Given the description of an element on the screen output the (x, y) to click on. 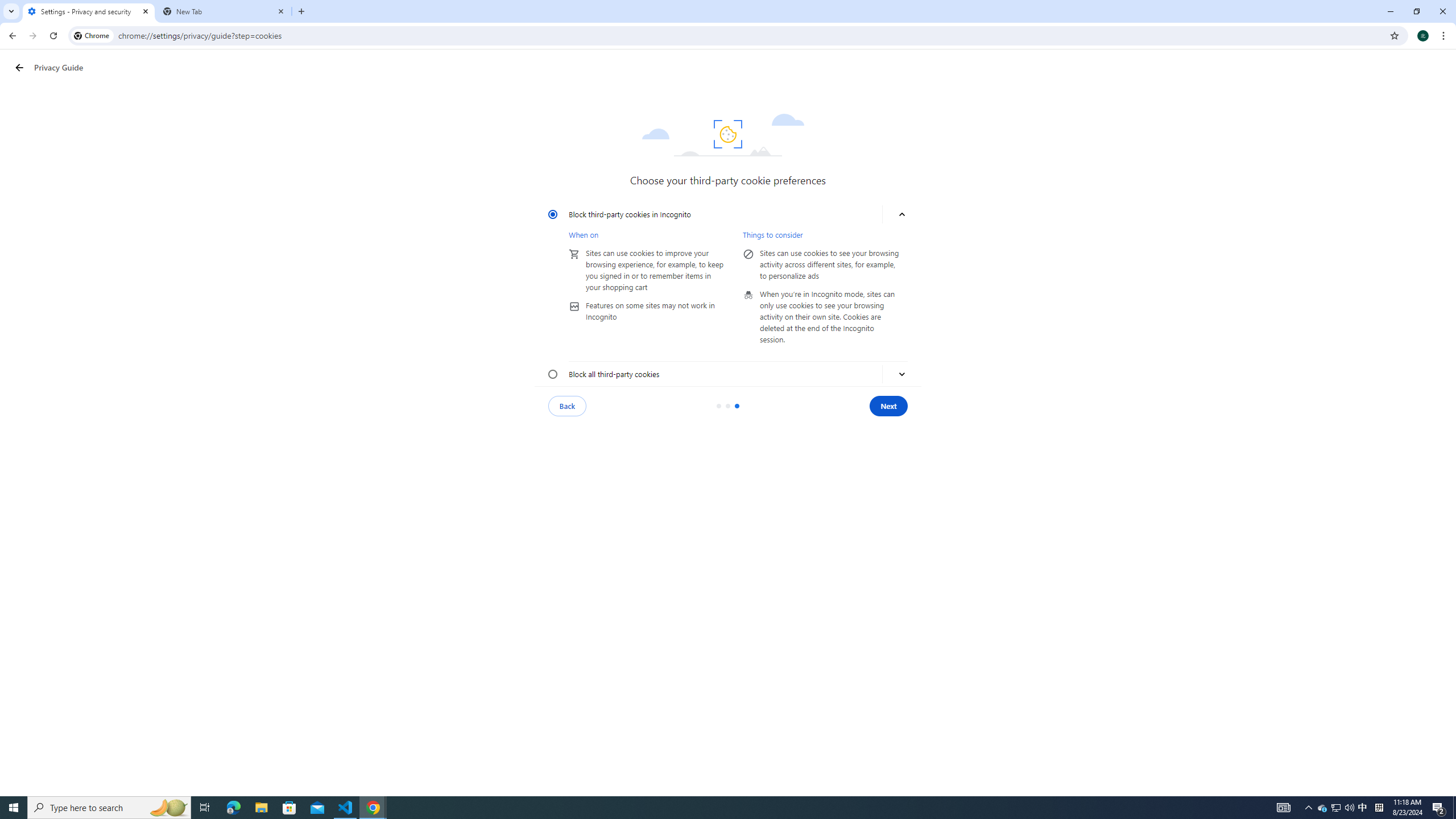
Block all third-party cookies (552, 373)
Privacy Guide back button (19, 67)
More about blocking third-party cookies (901, 373)
Block third-party cookies in Incognito (552, 214)
New Tab (224, 11)
